Given the description of an element on the screen output the (x, y) to click on. 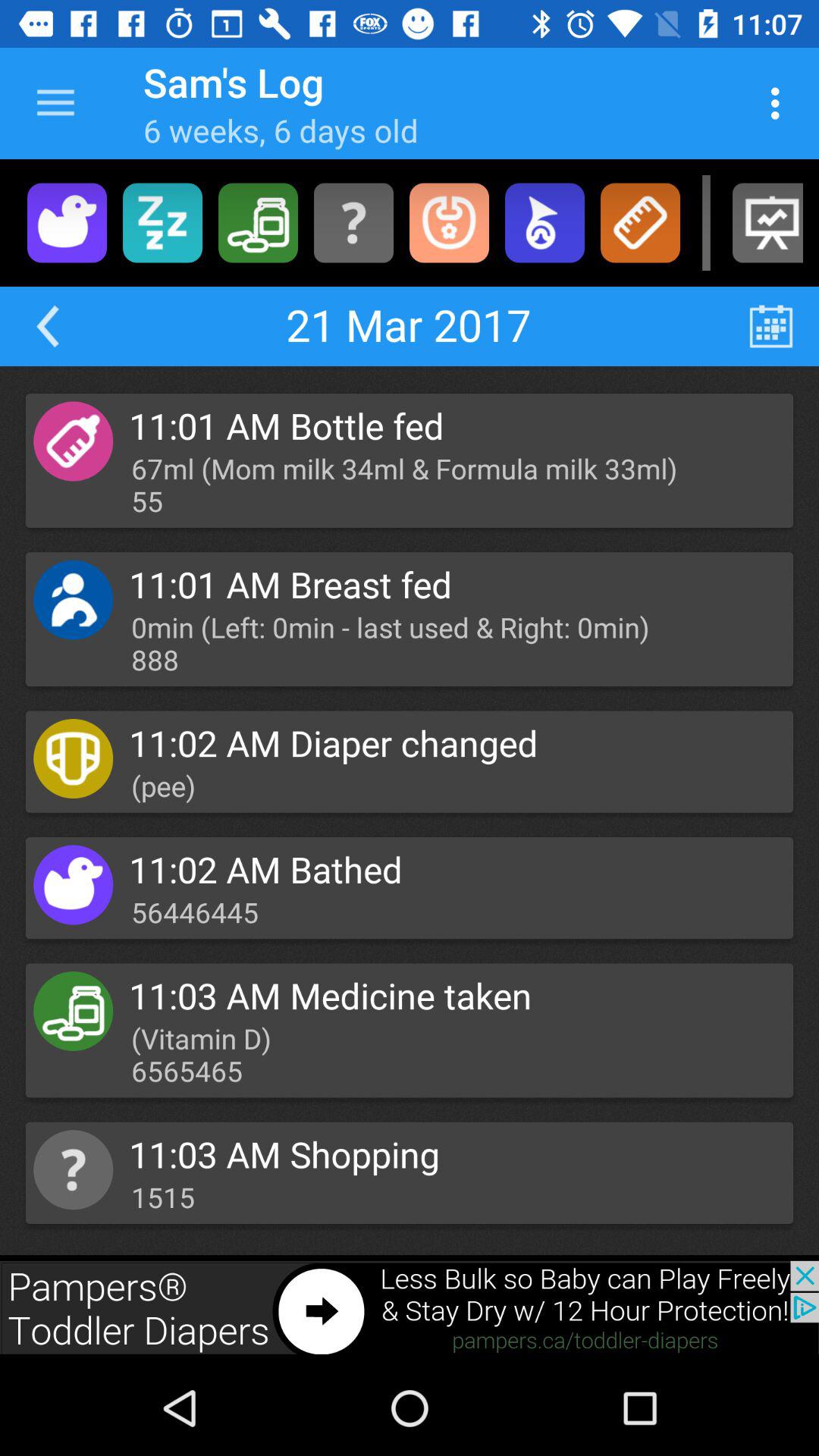
misc options (353, 222)
